Given the description of an element on the screen output the (x, y) to click on. 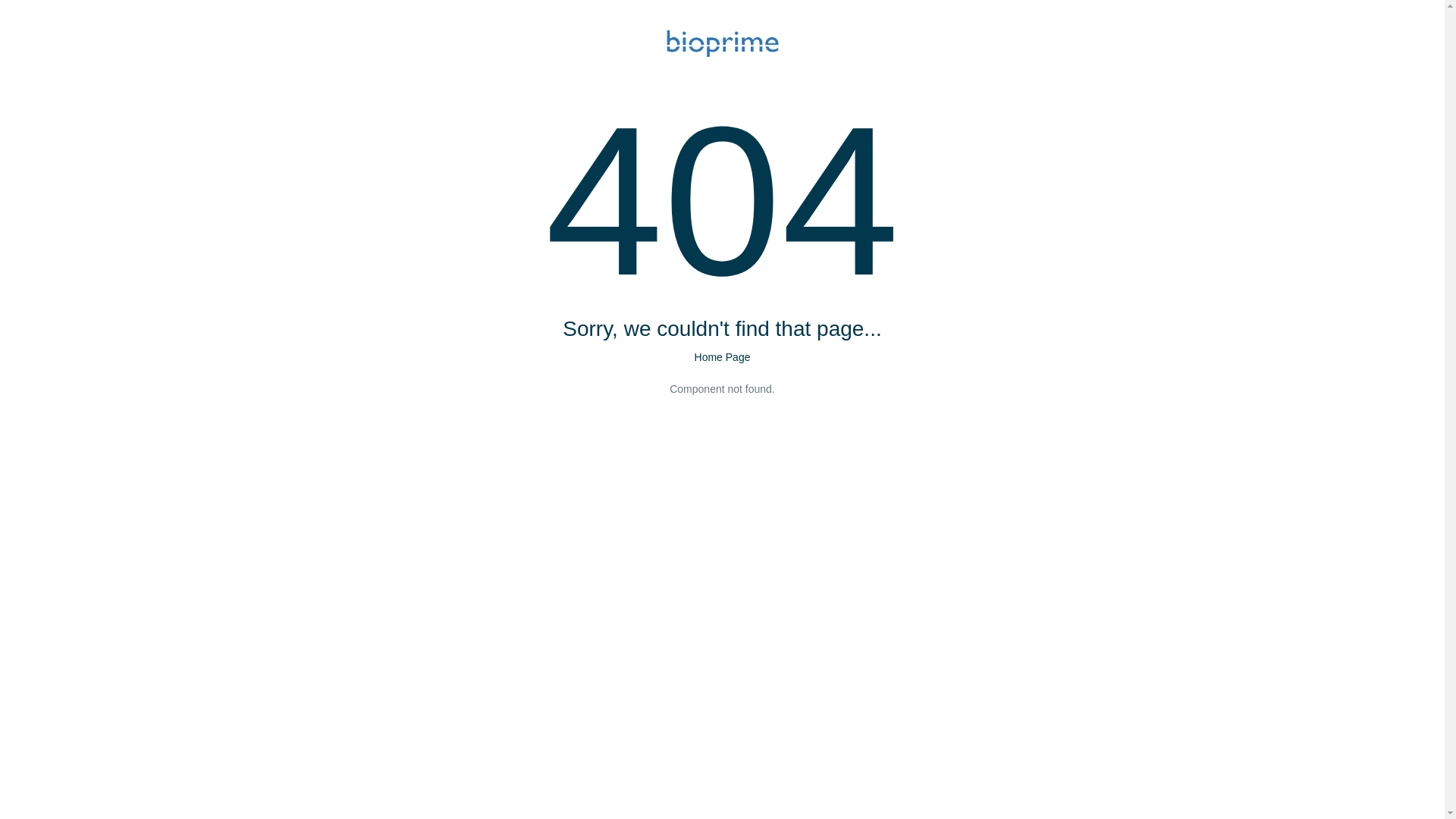
Home Page Element type: text (722, 357)
